Given the description of an element on the screen output the (x, y) to click on. 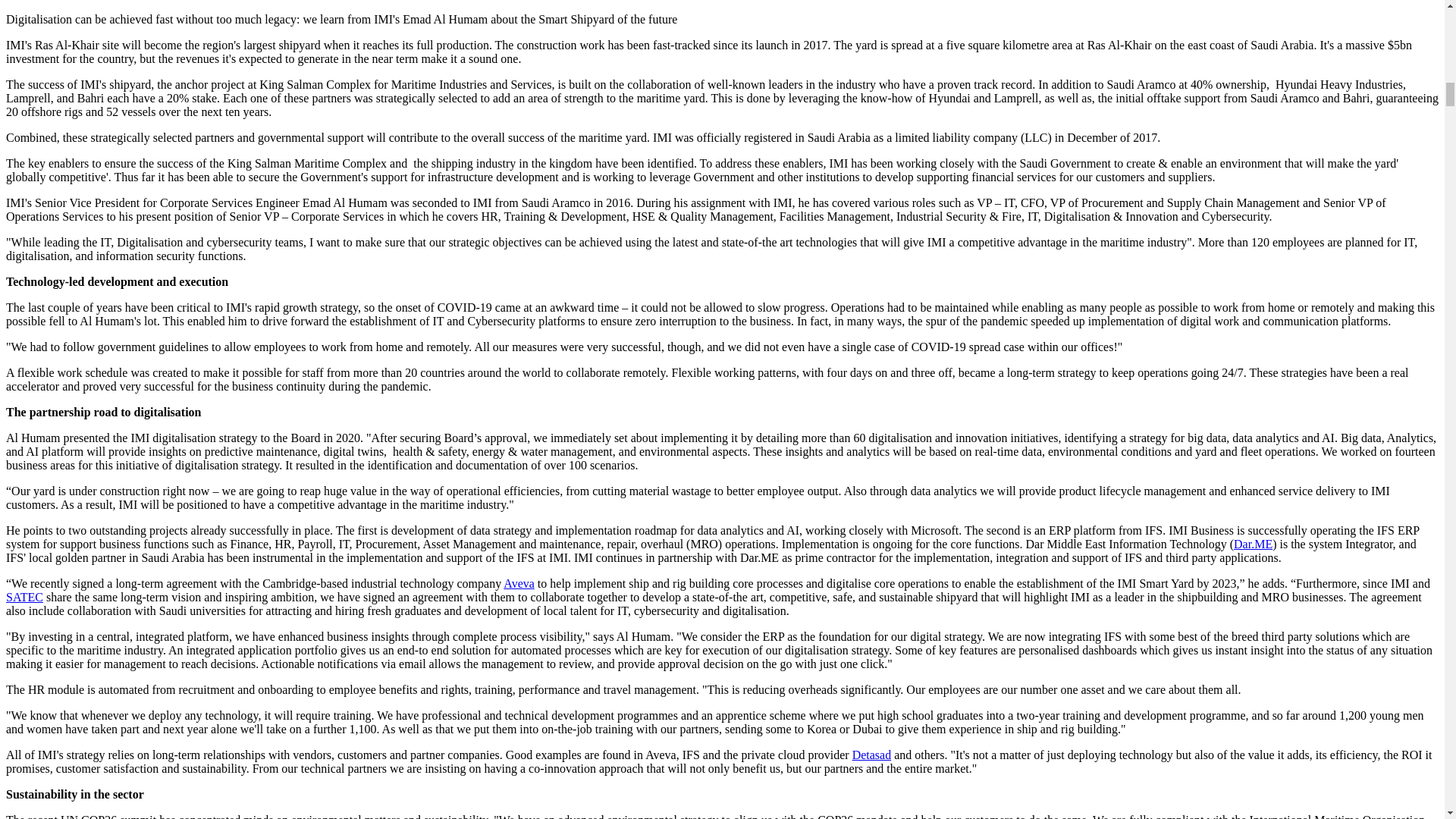
Aveva (518, 583)
SATEC (24, 596)
Detasad (871, 754)
Dar.ME (1252, 543)
